Given the description of an element on the screen output the (x, y) to click on. 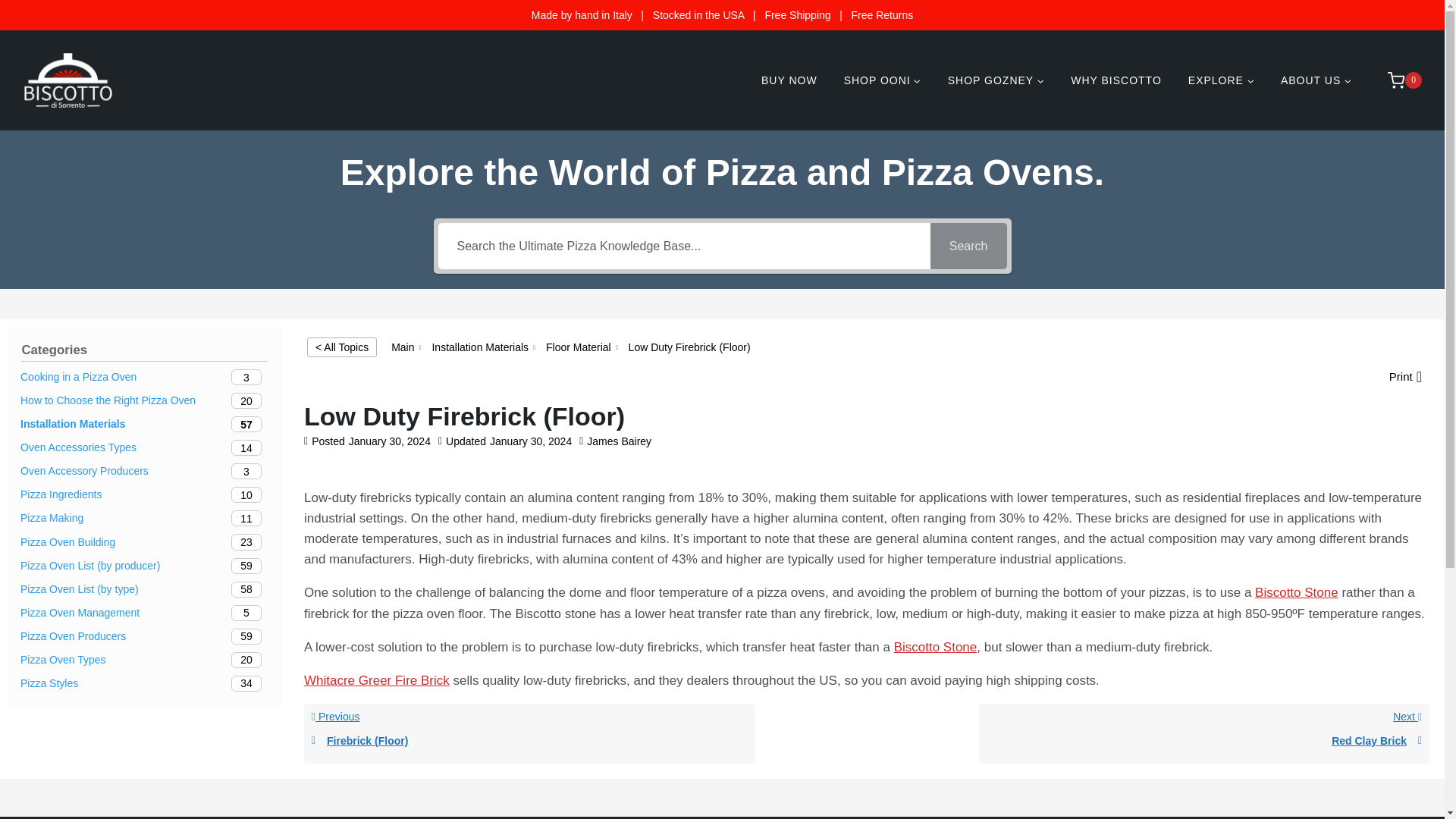
Search (968, 245)
EXPLORE (1220, 79)
SHOP OONI (881, 79)
SHOP GOZNEY (995, 79)
0 (1397, 80)
WHY BISCOTTO (1116, 79)
Red Clay Brick (1204, 740)
ABOUT US (1315, 79)
BUY NOW (789, 79)
